Given the description of an element on the screen output the (x, y) to click on. 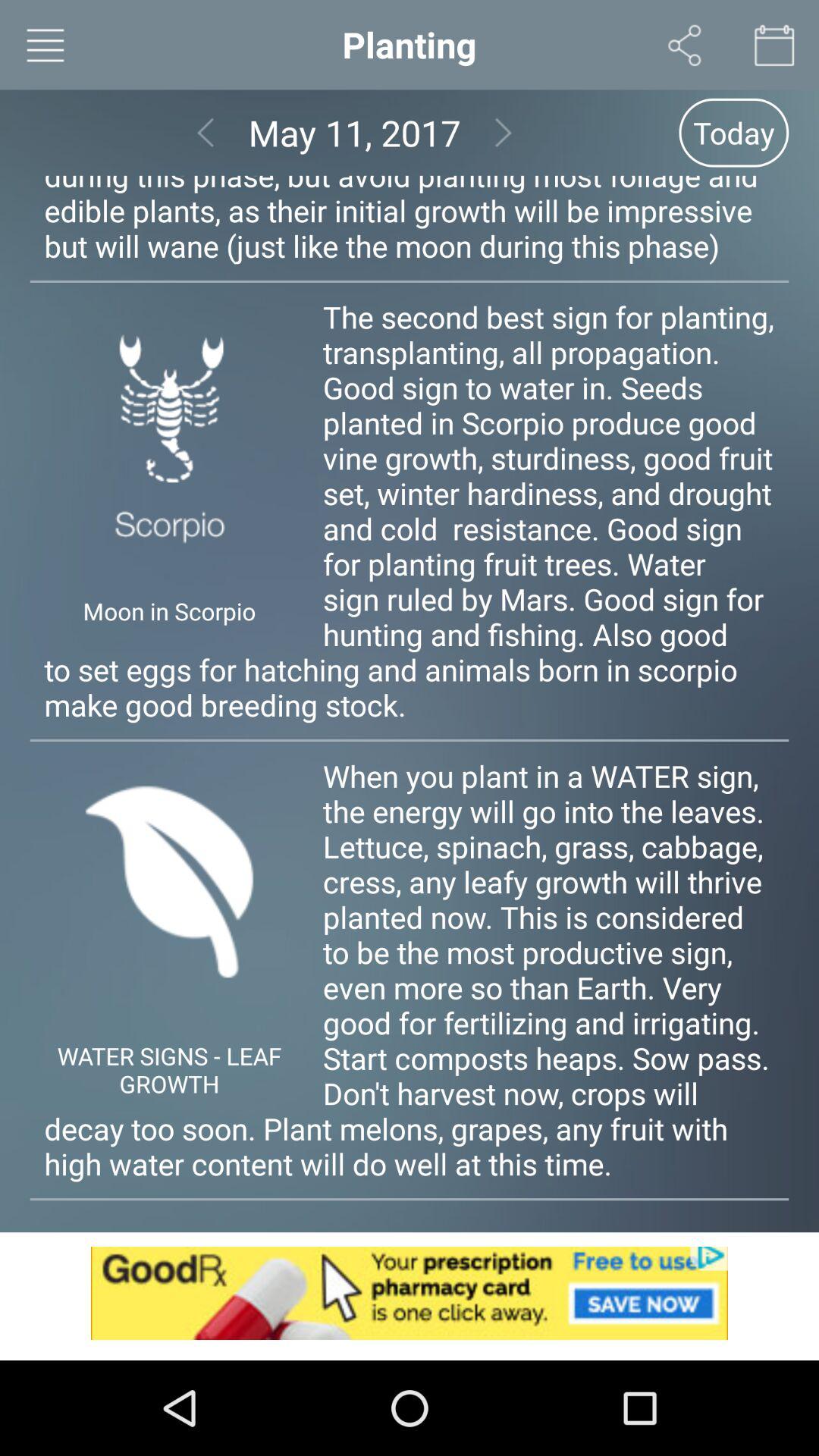
advance date (503, 132)
